Given the description of an element on the screen output the (x, y) to click on. 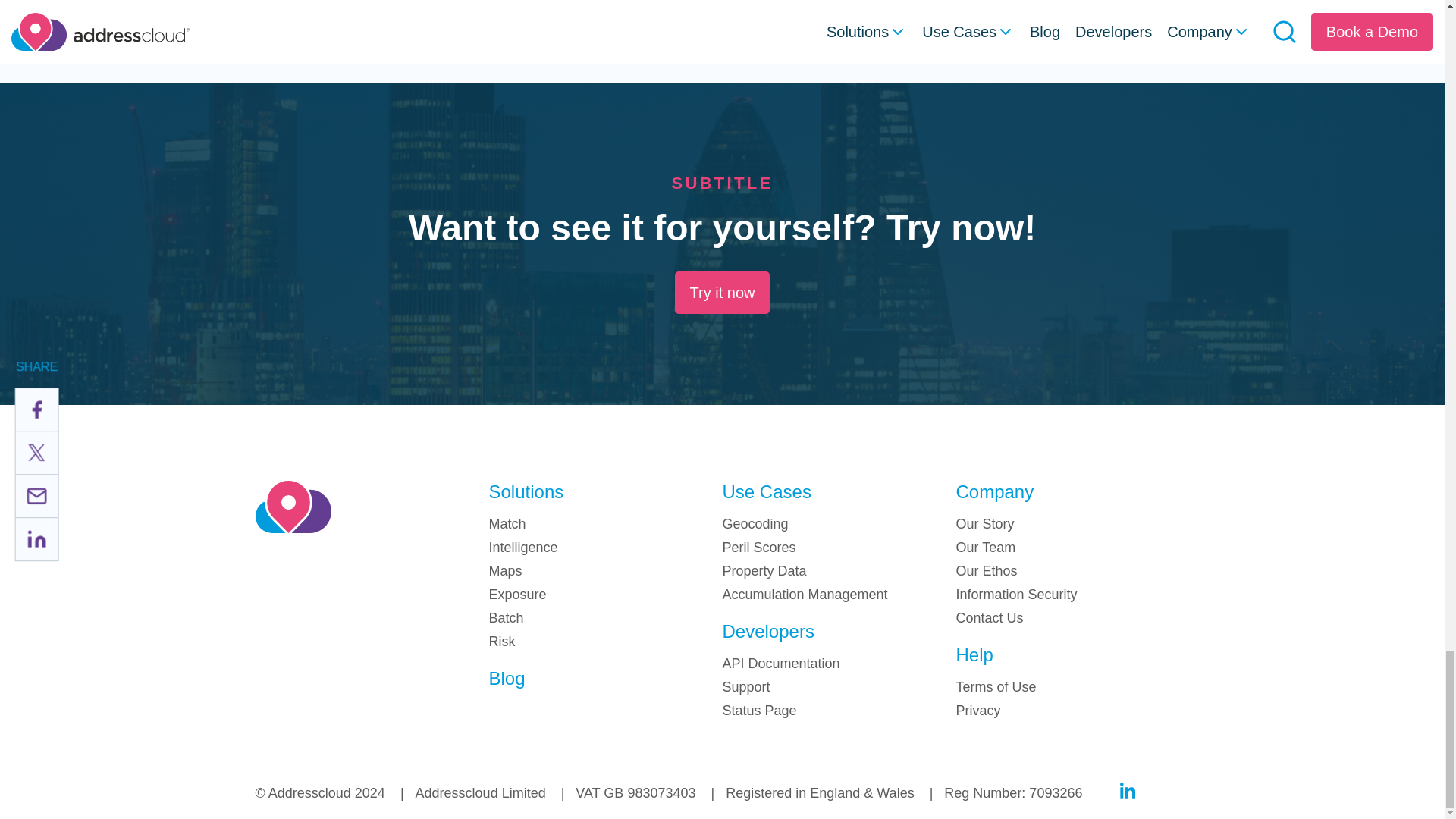
Geocoding (754, 523)
Solutions (525, 491)
Risk (501, 641)
Exposure (516, 594)
Match (506, 523)
Use Cases (766, 491)
Developers (767, 630)
Batch (504, 617)
API Documentation (781, 663)
Accumulation Management (804, 594)
Peril Scores (758, 547)
Try it now (722, 292)
Property Data (764, 570)
Maps (504, 570)
Intelligence (522, 547)
